Given the description of an element on the screen output the (x, y) to click on. 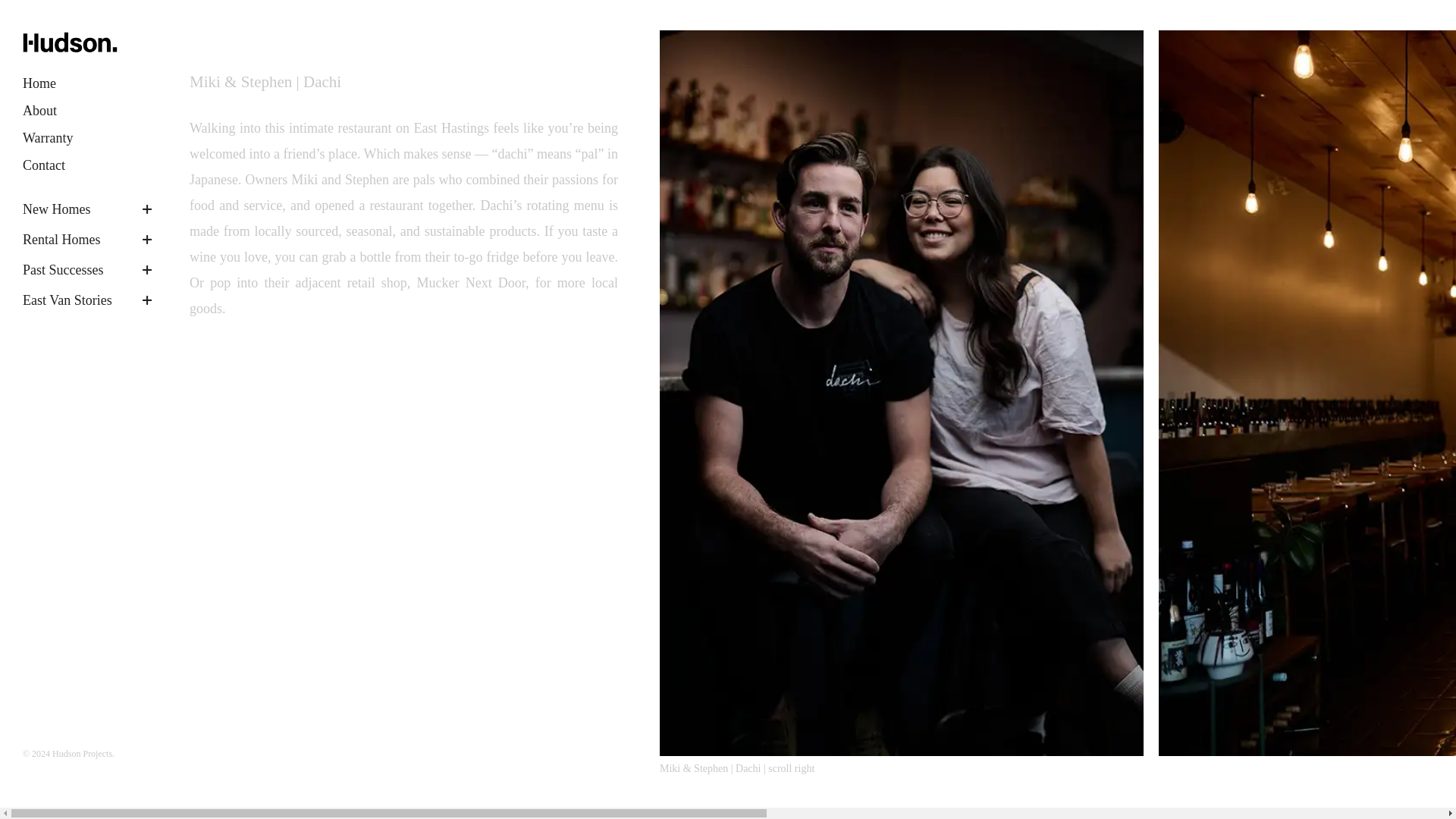
Home (39, 83)
Warranty (48, 137)
About (39, 110)
Contact (44, 165)
